Given the description of an element on the screen output the (x, y) to click on. 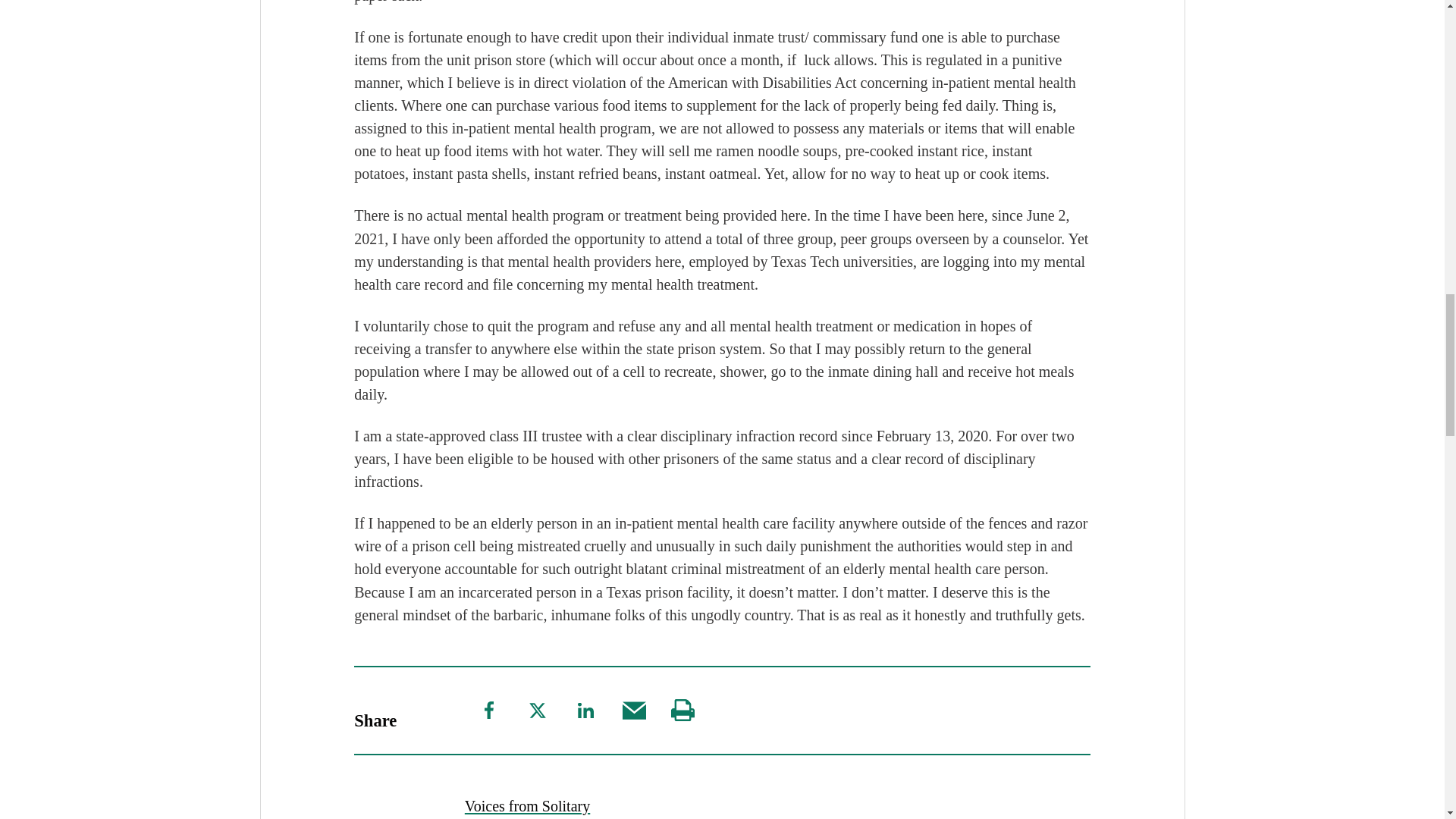
Share to Twitter (537, 710)
Share this post via Email (634, 710)
Share to LinkedIn (586, 710)
